Given the description of an element on the screen output the (x, y) to click on. 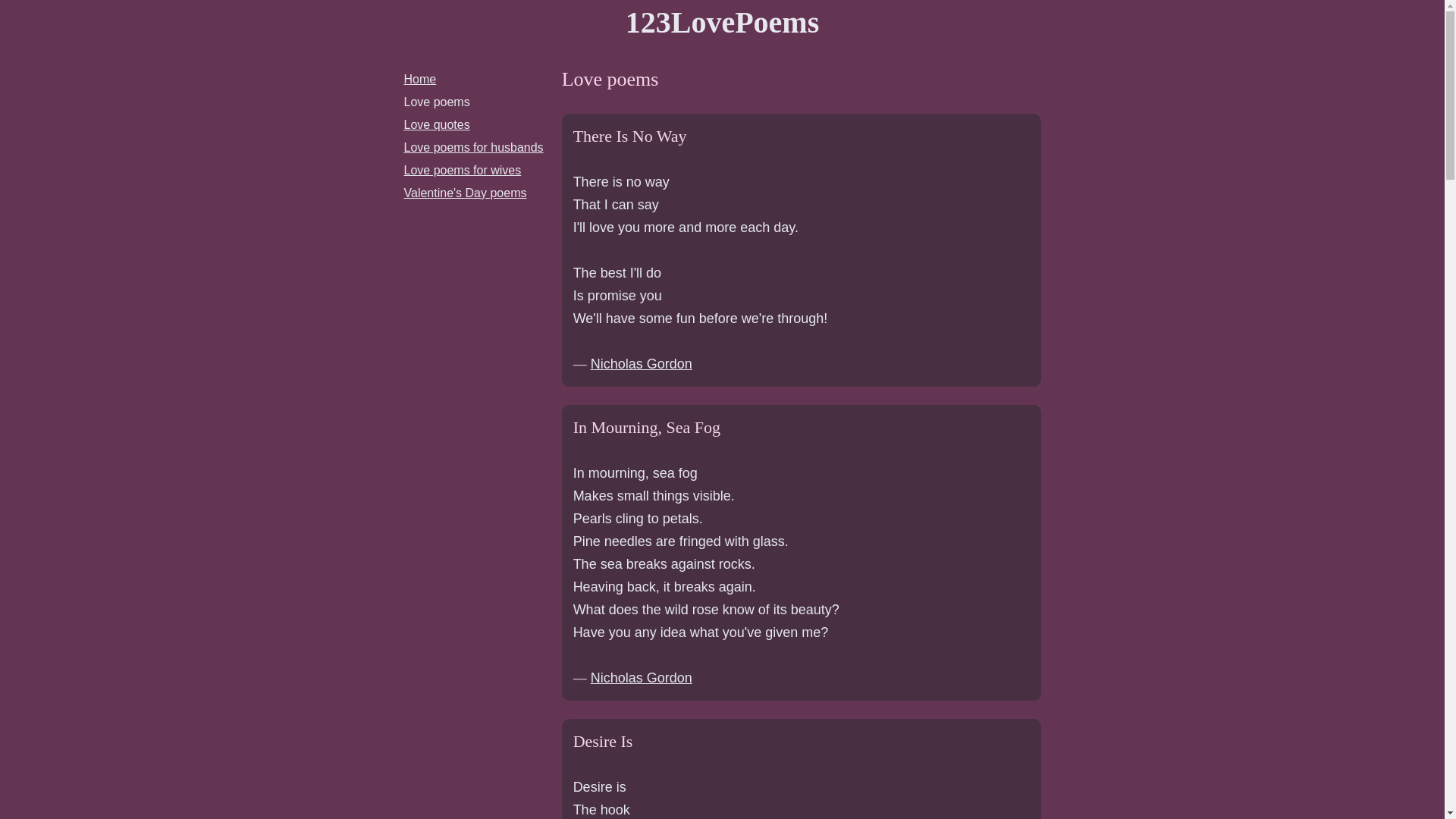
Love poems for husbands Element type: text (472, 147)
Home Element type: text (419, 78)
Love poems Element type: text (436, 101)
Nicholas Gordon Element type: text (641, 677)
Nicholas Gordon Element type: text (641, 363)
123LovePoems Element type: text (722, 22)
Valentine's Day poems Element type: text (464, 192)
Love quotes Element type: text (436, 124)
Love poems for wives Element type: text (461, 169)
